Given the description of an element on the screen output the (x, y) to click on. 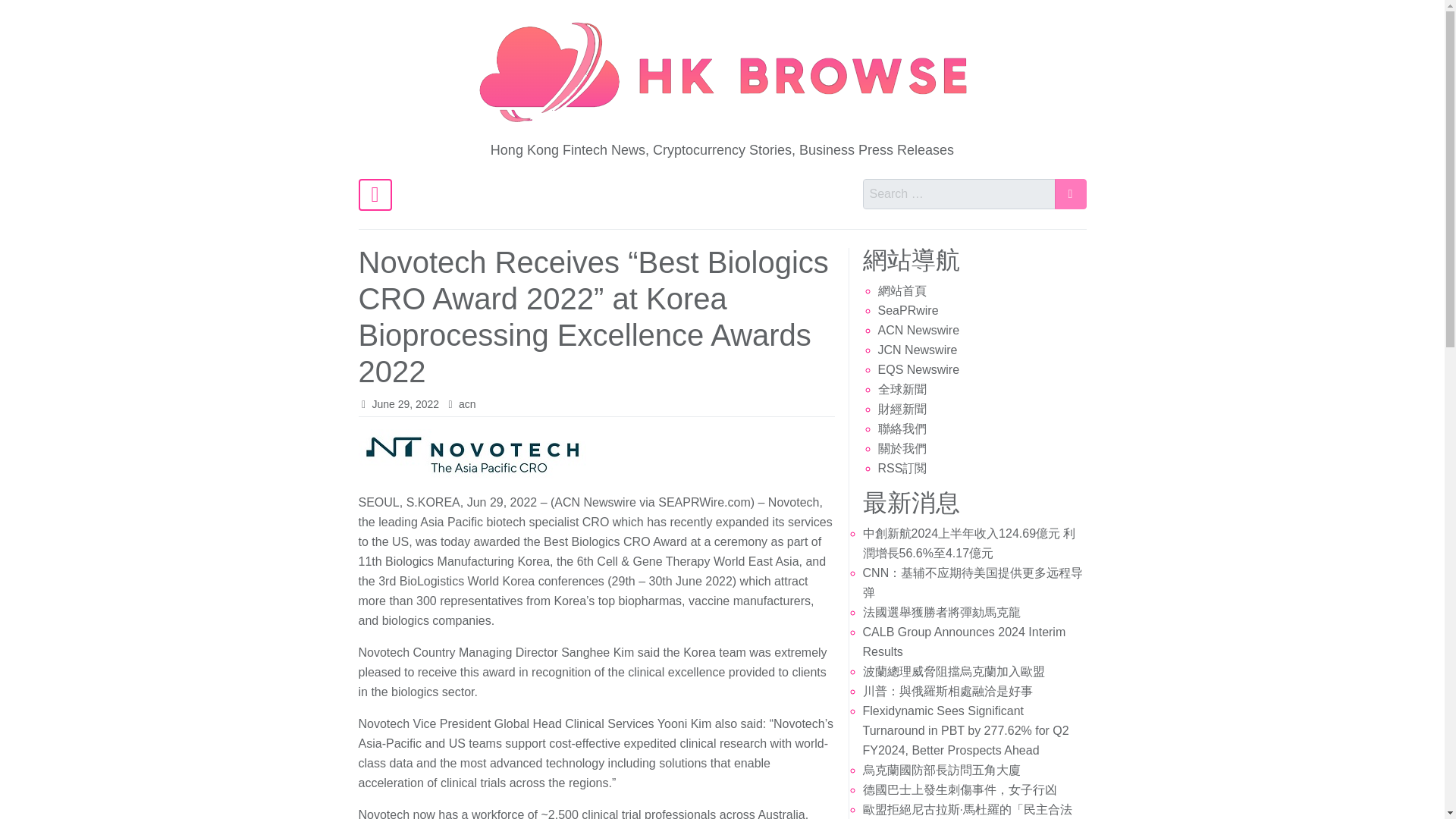
ACN Newswire (918, 329)
acn (467, 404)
CALB Group Announces 2024 Interim Results (964, 641)
June 29, 2022 (405, 404)
EQS Newswire (918, 369)
SeaPRwire (908, 309)
Skip to content (367, 39)
JCN Newswire (917, 349)
